Given the description of an element on the screen output the (x, y) to click on. 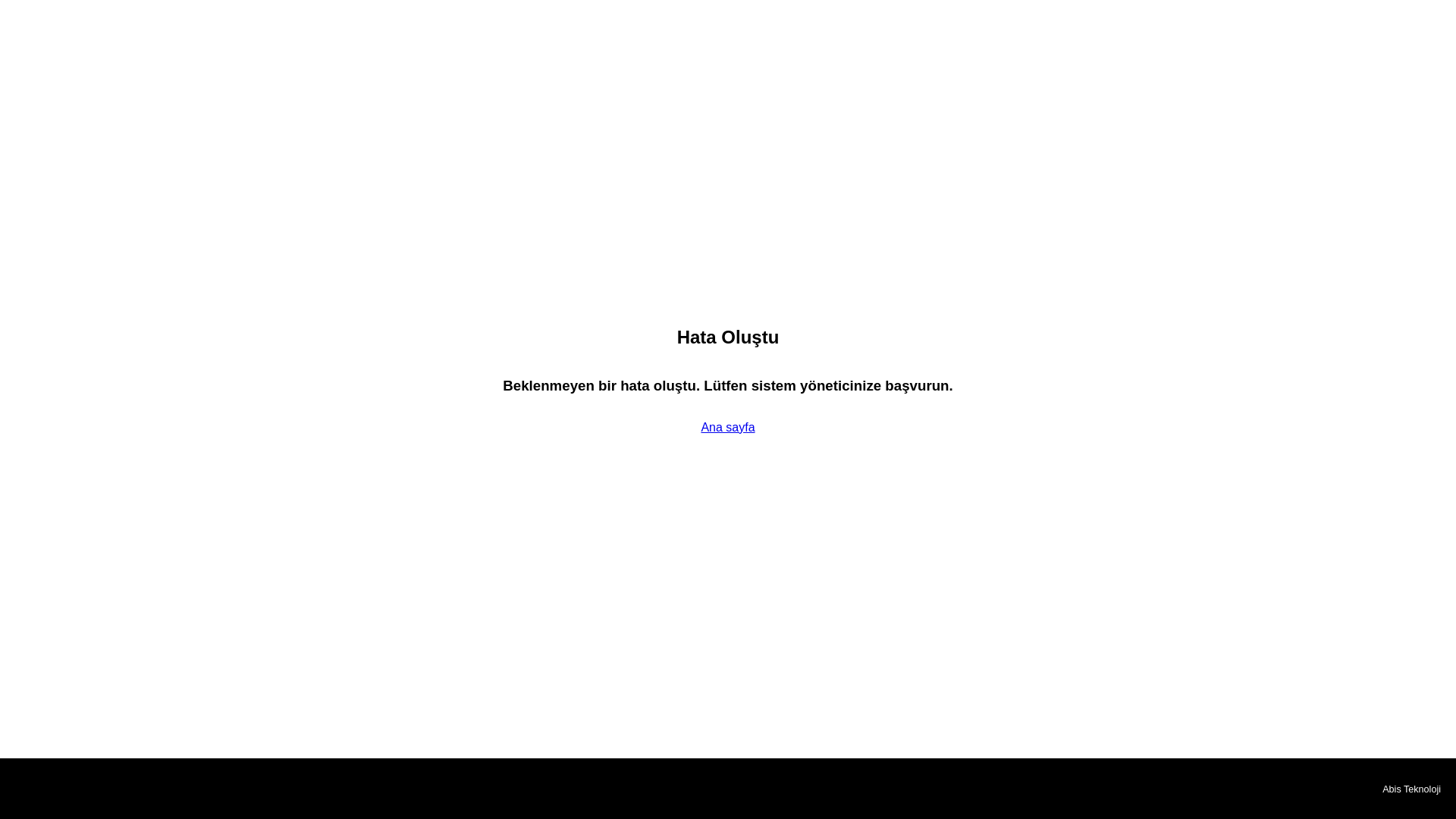
Abis Teknoloji (1411, 788)
Ana sayfa (727, 427)
